Given the description of an element on the screen output the (x, y) to click on. 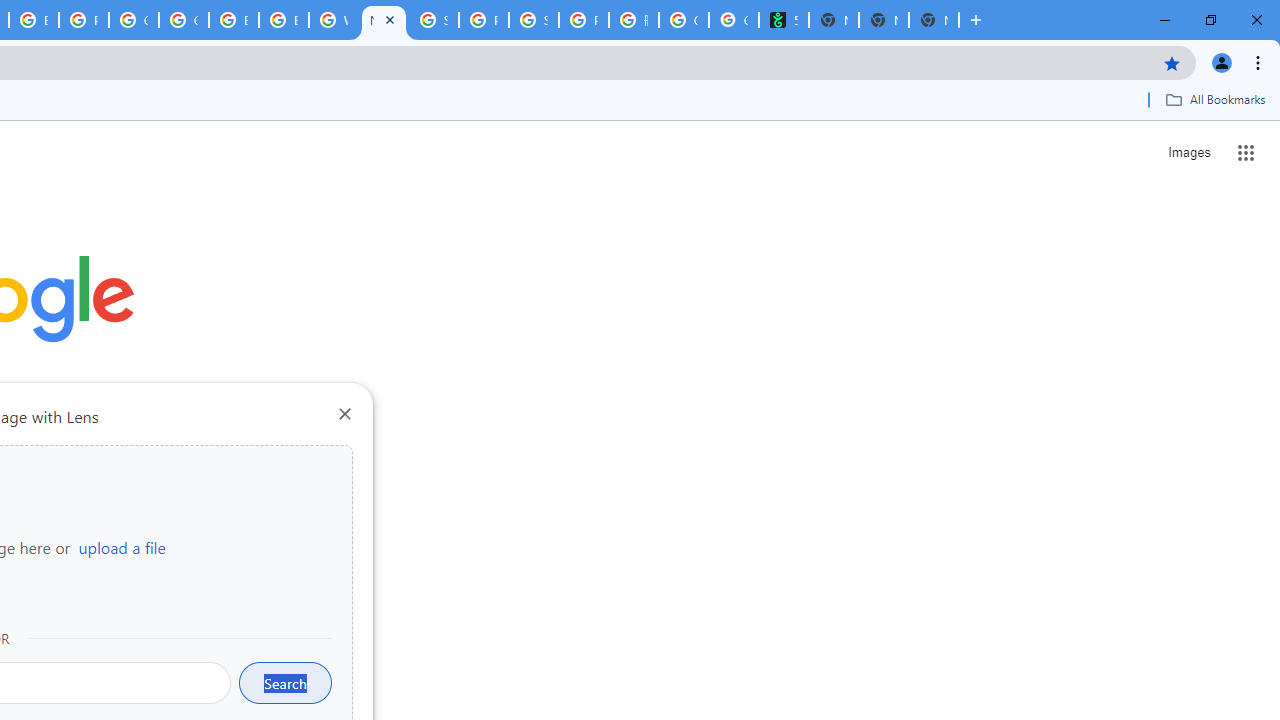
New Tab (933, 20)
Google Cloud Platform (183, 20)
Search for Images  (1188, 152)
Browse Chrome as a guest - Computer - Google Chrome Help (33, 20)
All Bookmarks (1215, 99)
Browse Chrome as a guest - Computer - Google Chrome Help (283, 20)
upload a file (122, 547)
